Given the description of an element on the screen output the (x, y) to click on. 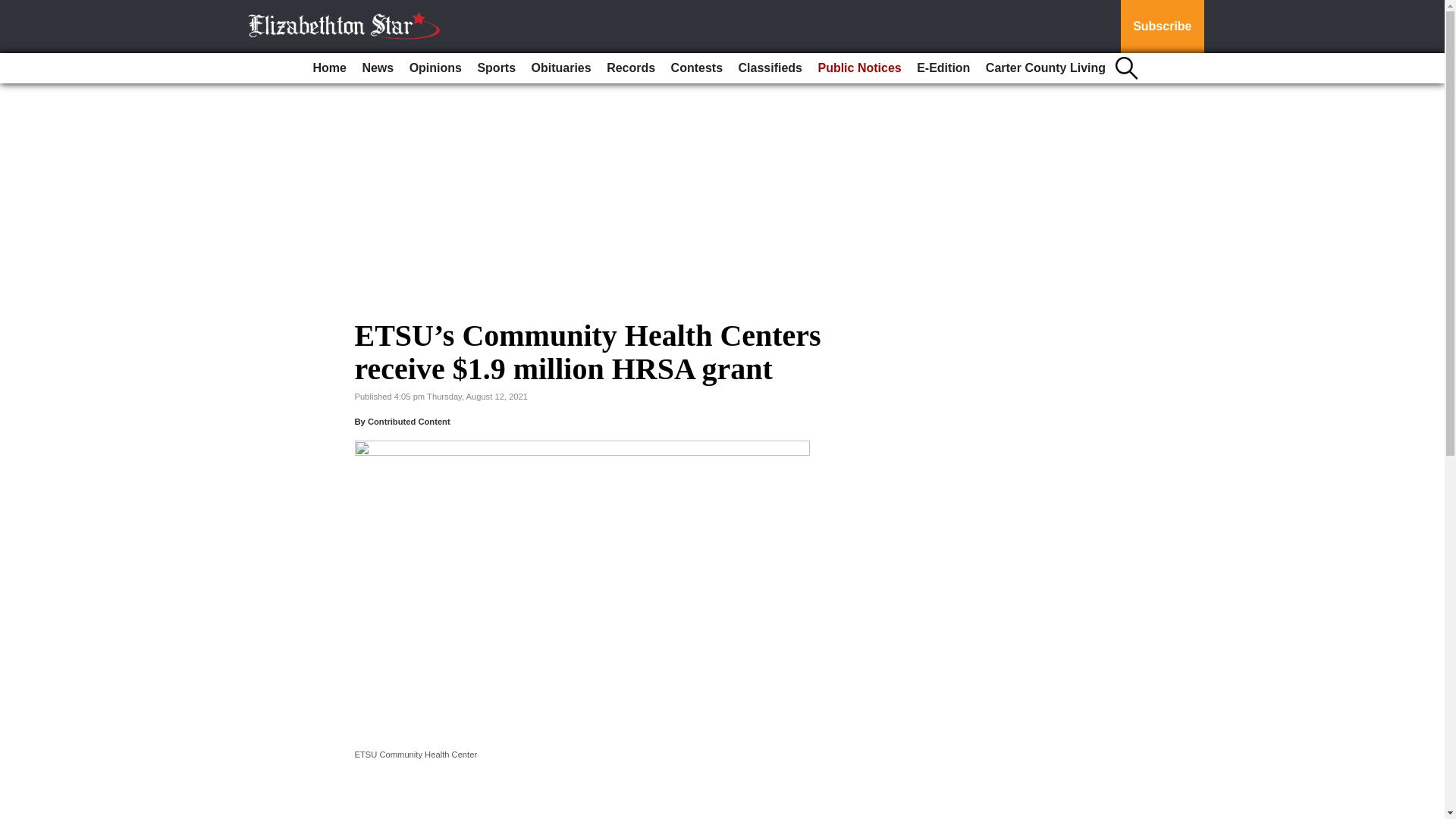
Obituaries (560, 68)
Carter County Living (1045, 68)
Records (630, 68)
Home (328, 68)
Contributed Content (408, 420)
Subscribe (1162, 26)
News (376, 68)
Contests (697, 68)
Opinions (435, 68)
Go (13, 9)
Public Notices (858, 68)
Classifieds (770, 68)
E-Edition (943, 68)
Sports (495, 68)
